Given the description of an element on the screen output the (x, y) to click on. 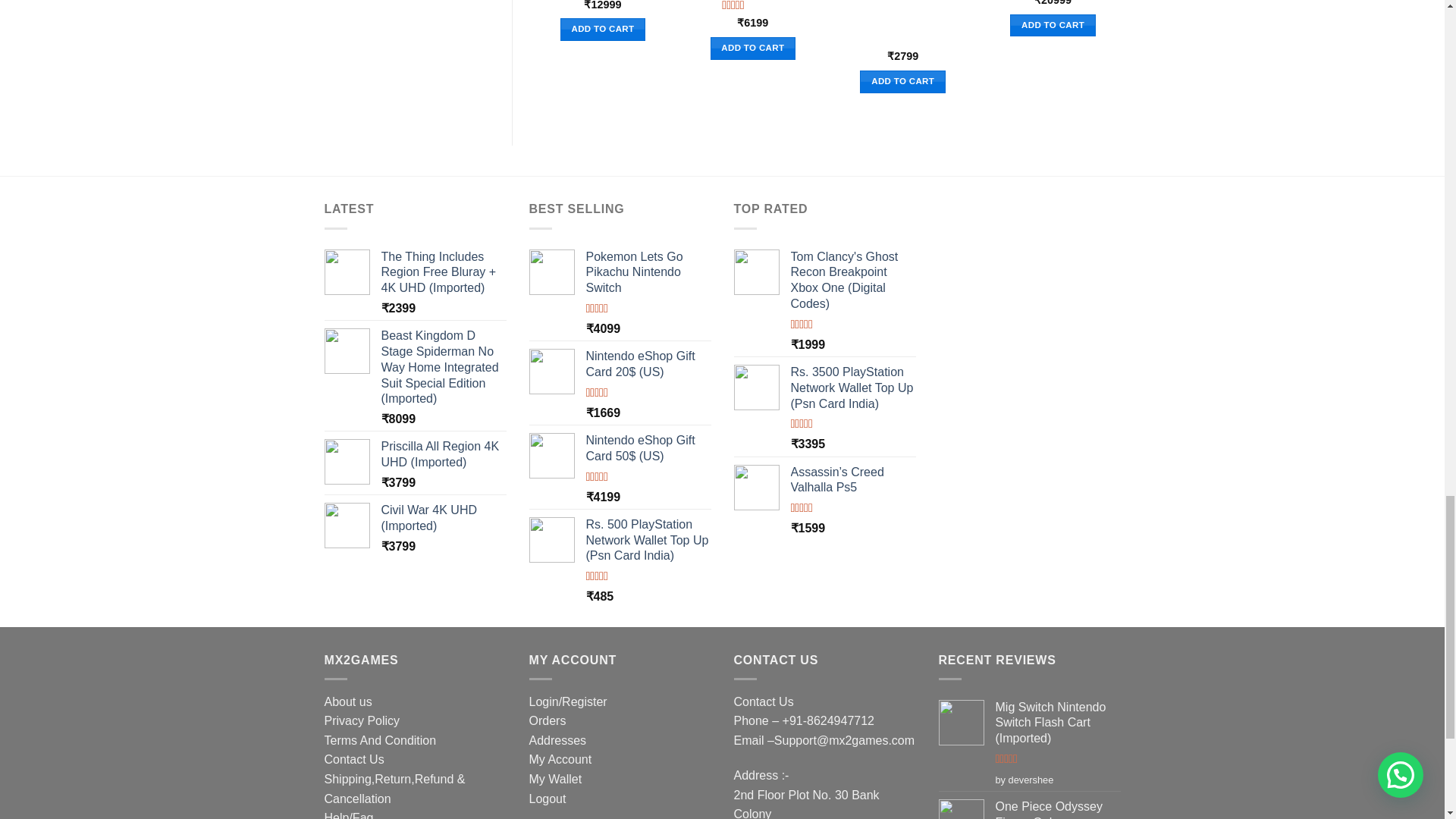
About us (348, 701)
Privacy Policy (362, 720)
Addresses (557, 739)
Terms And Condition (380, 739)
Orders (547, 720)
Contact Us (354, 758)
